Given the description of an element on the screen output the (x, y) to click on. 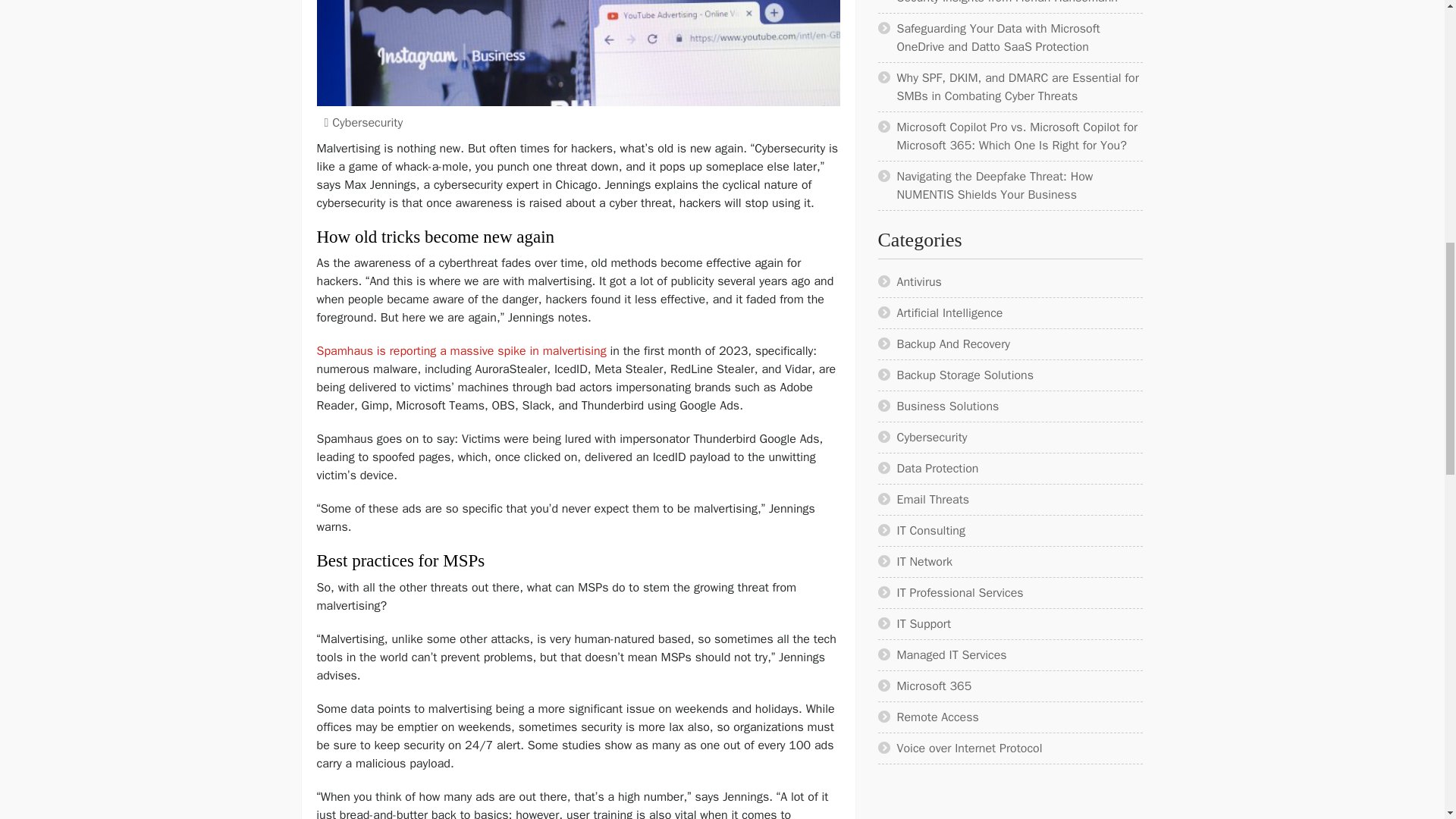
Spamhaus is reporting a massive spike in malvertising  (463, 350)
Backup And Recovery (953, 344)
Data Protection (937, 468)
Cybersecurity (367, 122)
Backup Storage Solutions (964, 375)
Artificial Intelligence (949, 313)
